Given the description of an element on the screen output the (x, y) to click on. 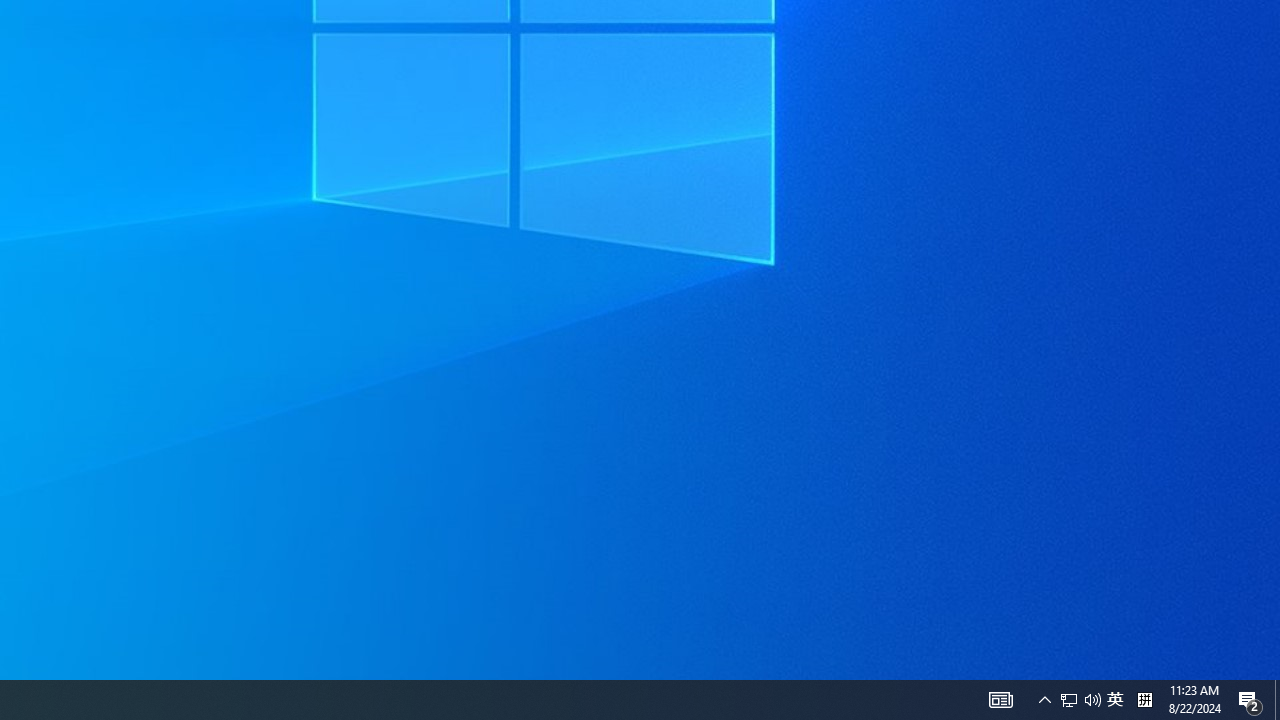
Q2790: 100% (1092, 699)
Notification Chevron (1044, 699)
AutomationID: 4105 (1000, 699)
Action Center, 2 new notifications (1250, 699)
Show desktop (1277, 699)
User Promoted Notification Area (1115, 699)
Tray Input Indicator - Chinese (Simplified, China) (1080, 699)
